Given the description of an element on the screen output the (x, y) to click on. 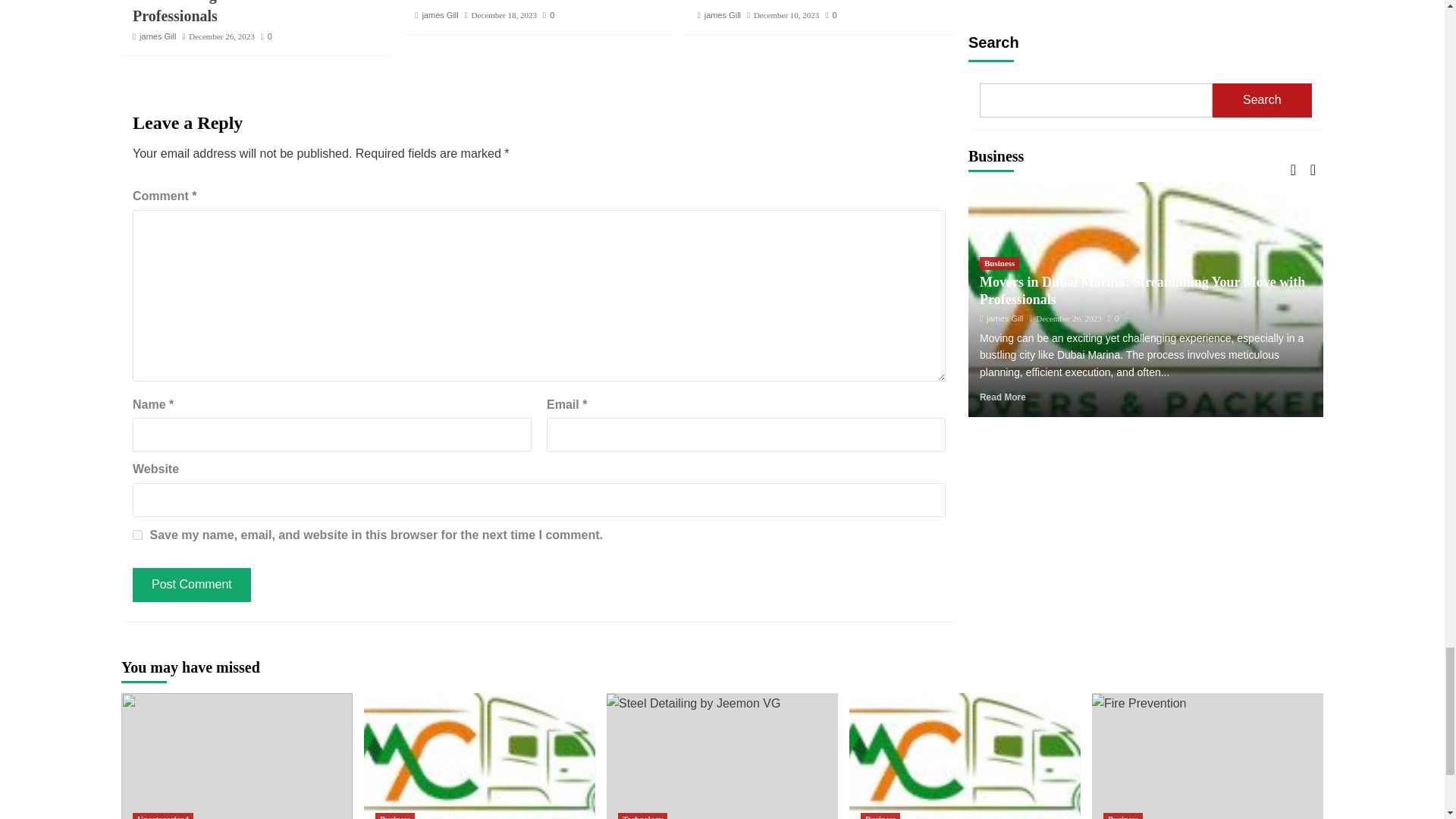
james Gill (157, 35)
December 26, 2023 (221, 35)
0 (266, 35)
james Gill (440, 14)
Villa Movers in Dubai: Making Your Move Hassle-Free (533, 1)
yes (137, 534)
Post Comment (191, 584)
